Given the description of an element on the screen output the (x, y) to click on. 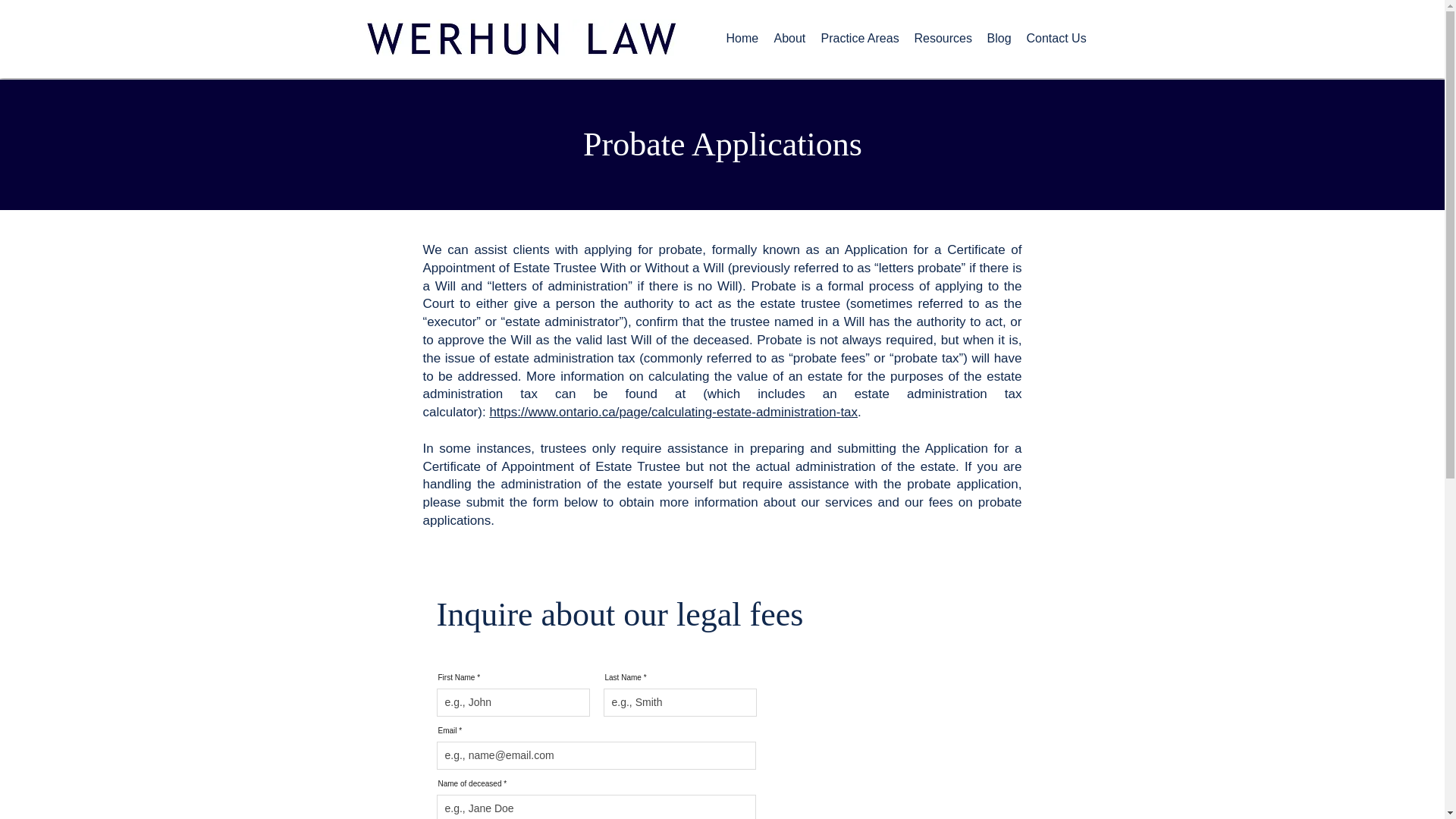
About (788, 38)
Home (743, 38)
Contact Us (1056, 38)
